Given the description of an element on the screen output the (x, y) to click on. 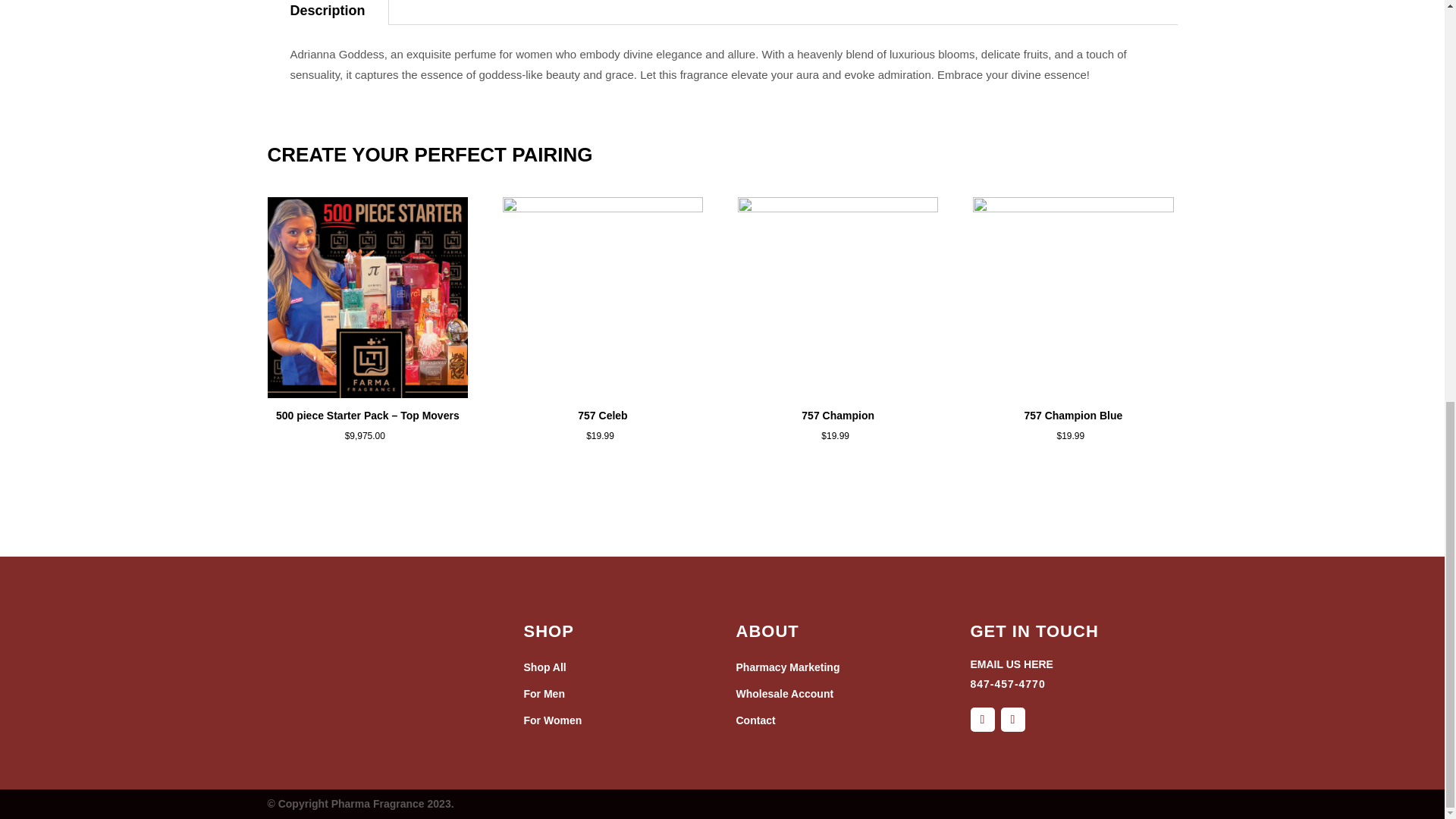
Wholesale Account (783, 693)
For Men (543, 693)
Contact (754, 720)
Follow on Facebook (982, 718)
Description (326, 12)
Pharmacy Marketing (787, 666)
Follow on Instagram (1013, 718)
Shop All (544, 666)
For Women (551, 720)
